Given the description of an element on the screen output the (x, y) to click on. 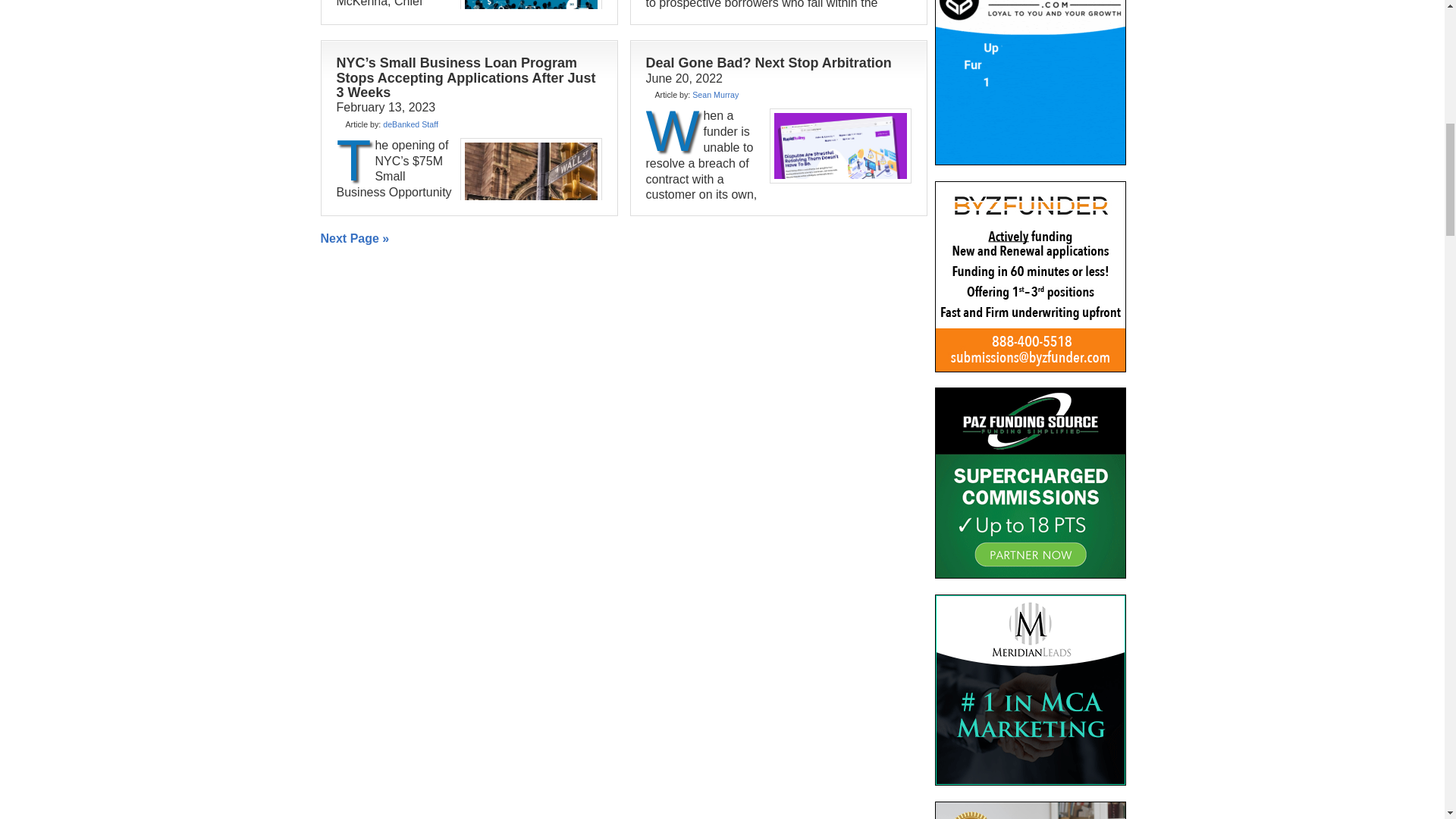
Posts by deBanked Staff (410, 123)
Permanent Link to Deal Gone Bad? Next Stop Arbitration (768, 62)
Posts by Sean Murray (715, 94)
